Given the description of an element on the screen output the (x, y) to click on. 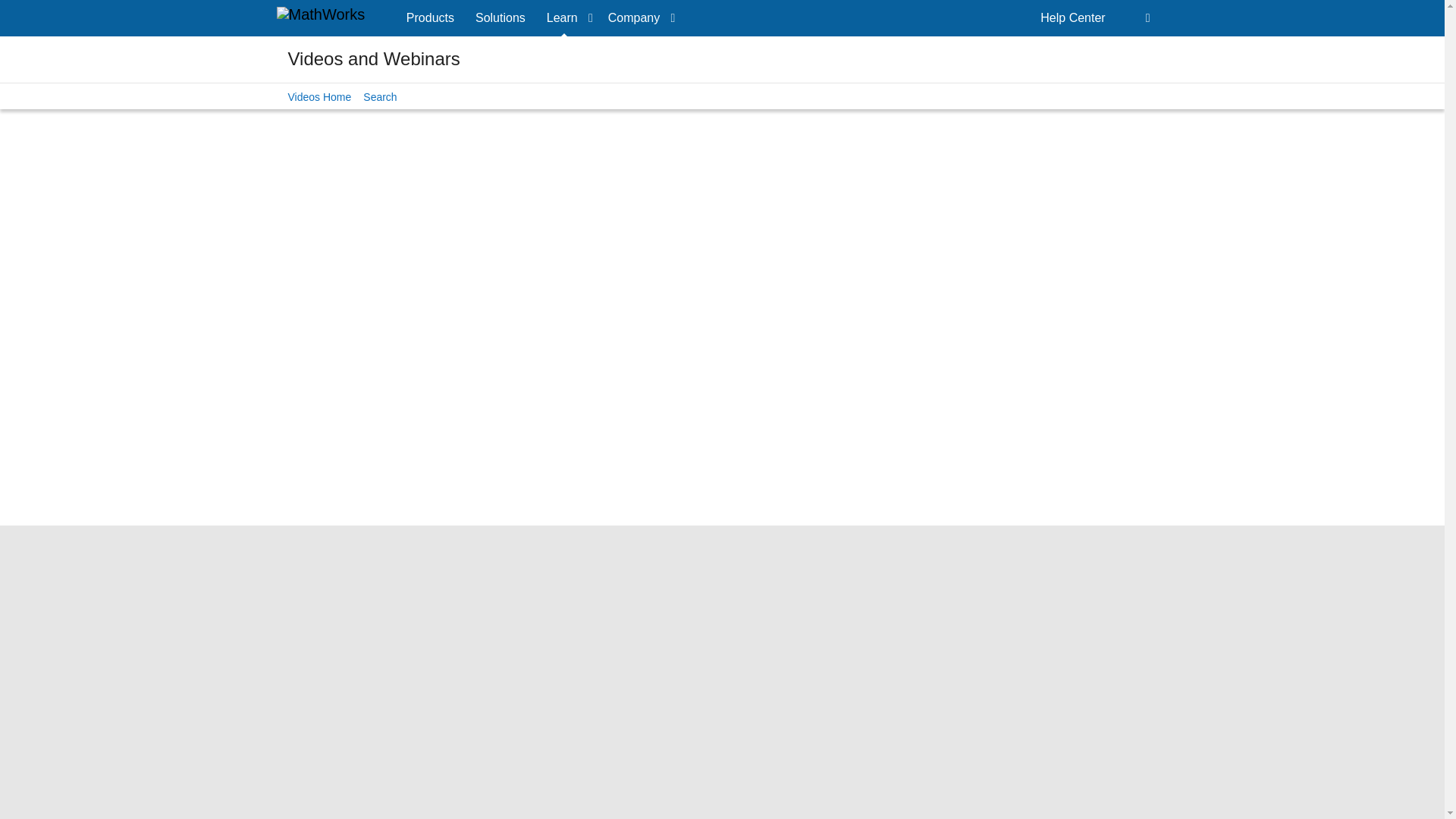
Learn (566, 18)
Help Center (1071, 18)
Solutions (499, 18)
Products (430, 18)
Company (638, 18)
